Given the description of an element on the screen output the (x, y) to click on. 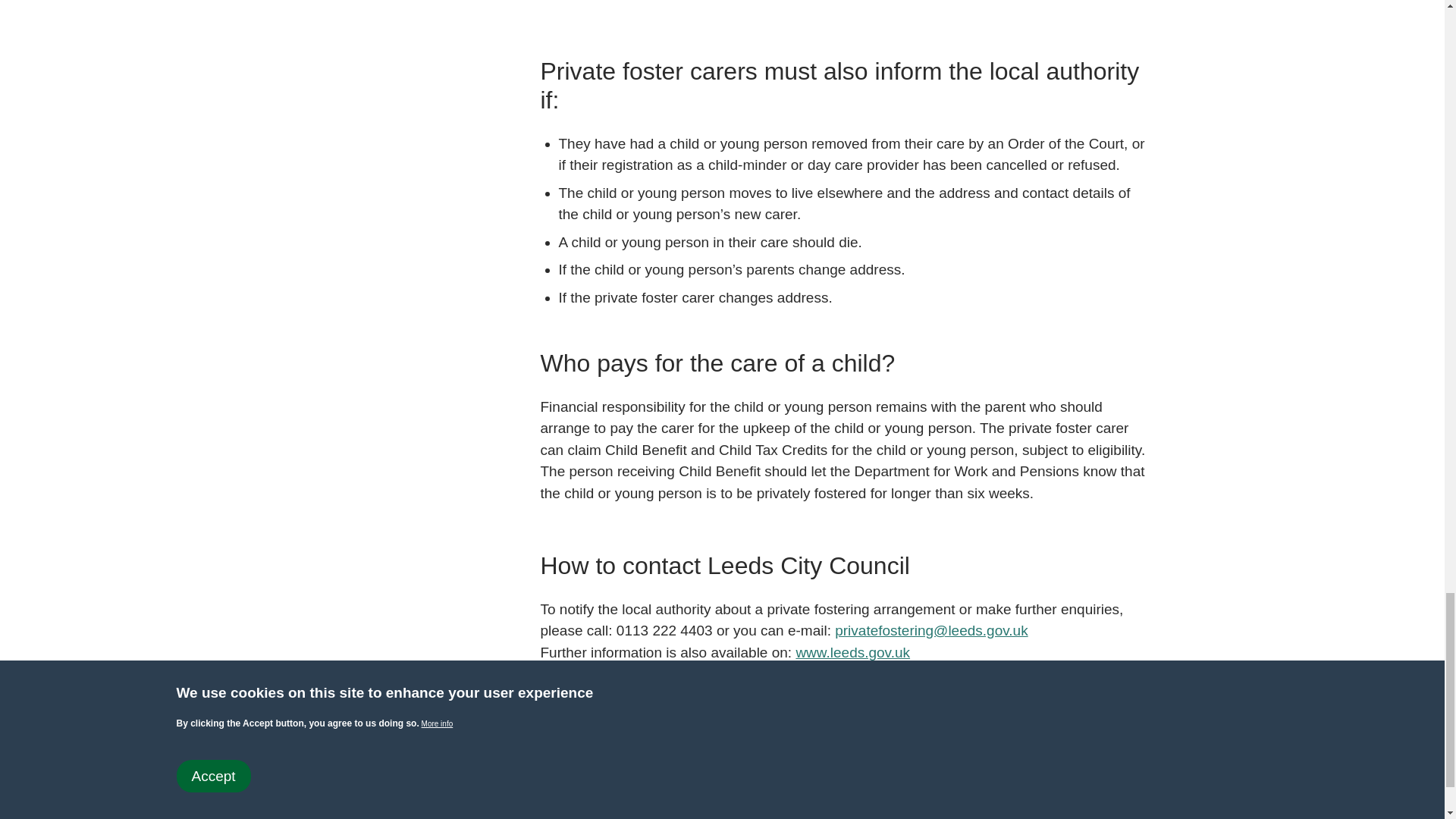
youtube (345, 800)
www.leeds.gov.uk (852, 653)
twitter (261, 800)
facebook (303, 800)
